Given the description of an element on the screen output the (x, y) to click on. 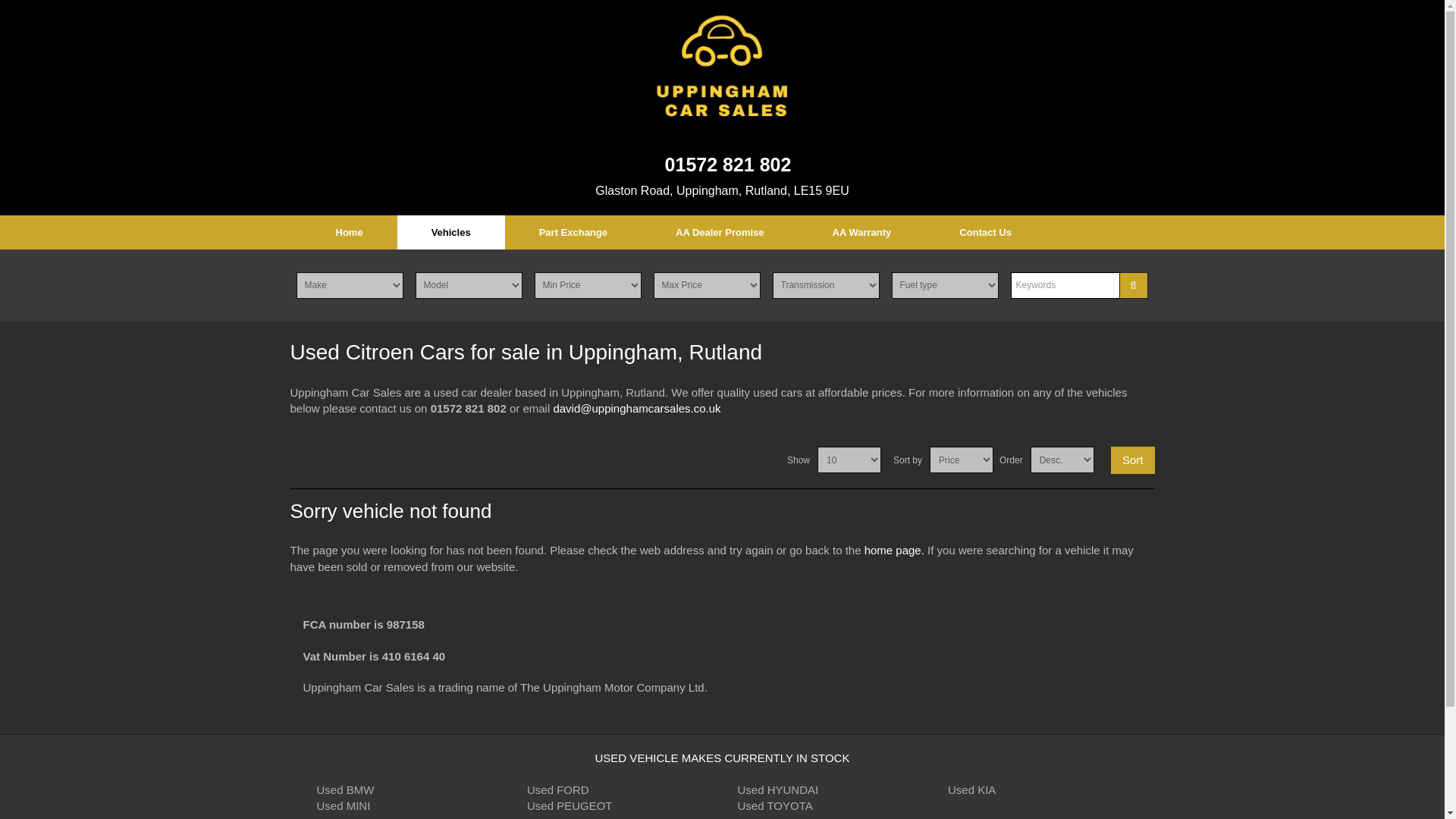
AA Dealer Promise (719, 232)
Used FORD (558, 789)
Uppingham Car Sales (722, 68)
Home (349, 232)
Part Exchange (573, 232)
home page. (894, 549)
Sort (1132, 459)
Used HYUNDAI (777, 789)
Sort (1132, 459)
Used TOYOTA (774, 805)
Home (349, 232)
Vehicles (451, 232)
AA Warranty (861, 232)
Vehicles (451, 232)
Contact Us (984, 232)
